Given the description of an element on the screen output the (x, y) to click on. 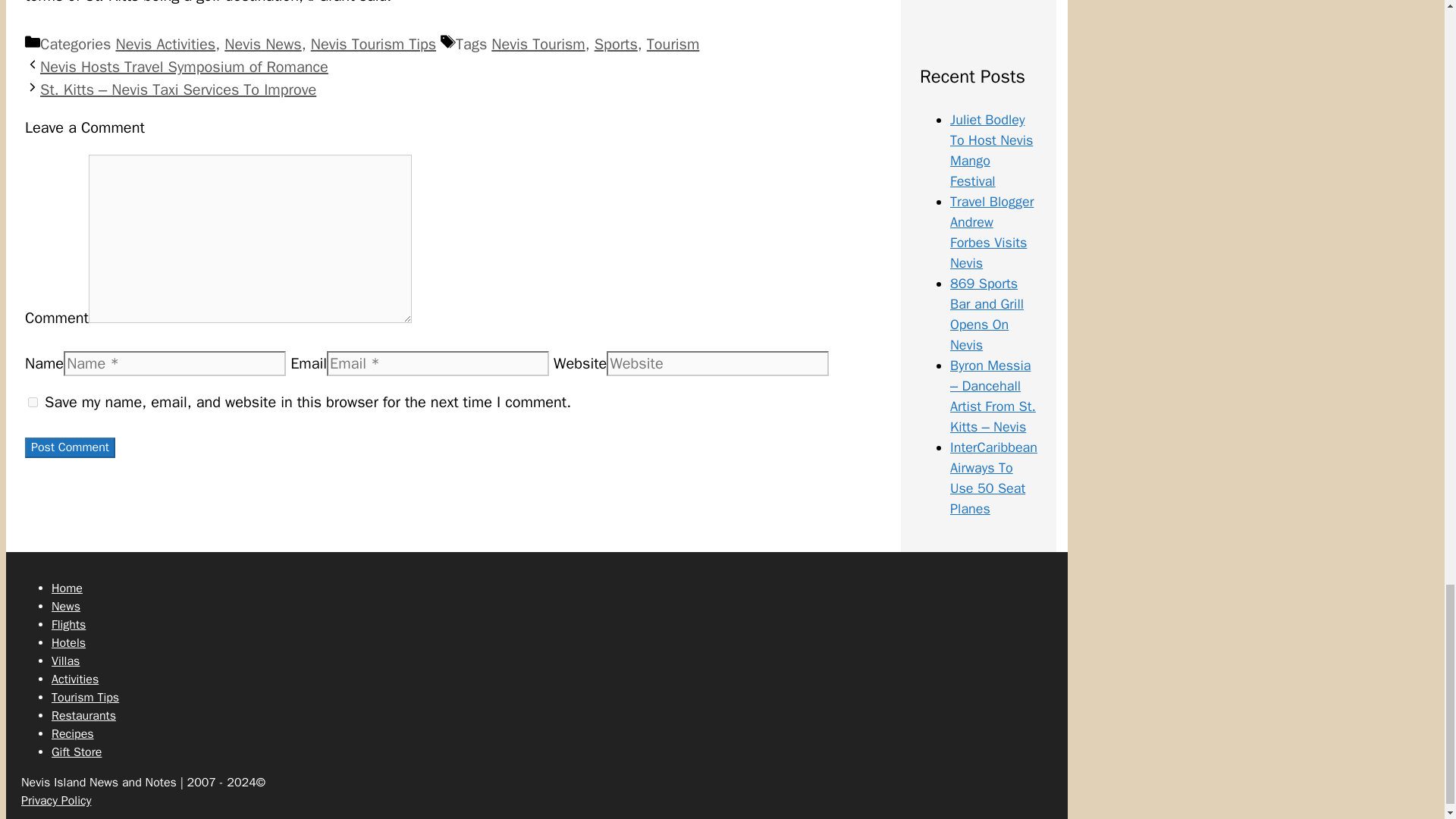
Nevis Activities (165, 44)
Tourism (673, 44)
Post Comment (69, 447)
Nevis Tourism (538, 44)
Nevis News (262, 44)
Nevis Tourism Tips (373, 44)
yes (32, 402)
Sports (615, 44)
Nevis Hosts Travel Symposium of Romance (184, 66)
Post Comment (69, 447)
